Given the description of an element on the screen output the (x, y) to click on. 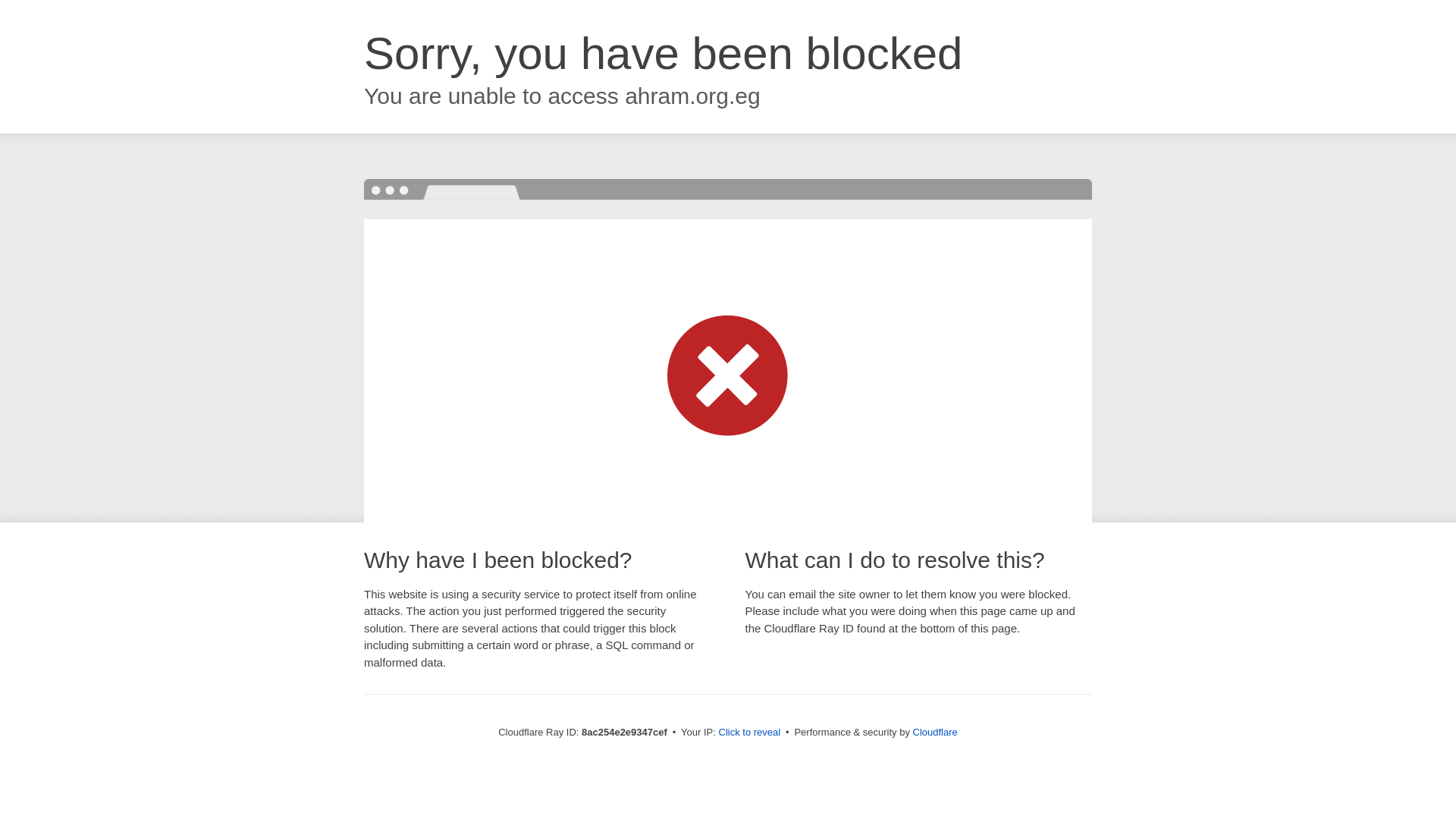
Click to reveal (749, 732)
Cloudflare (935, 731)
